Given the description of an element on the screen output the (x, y) to click on. 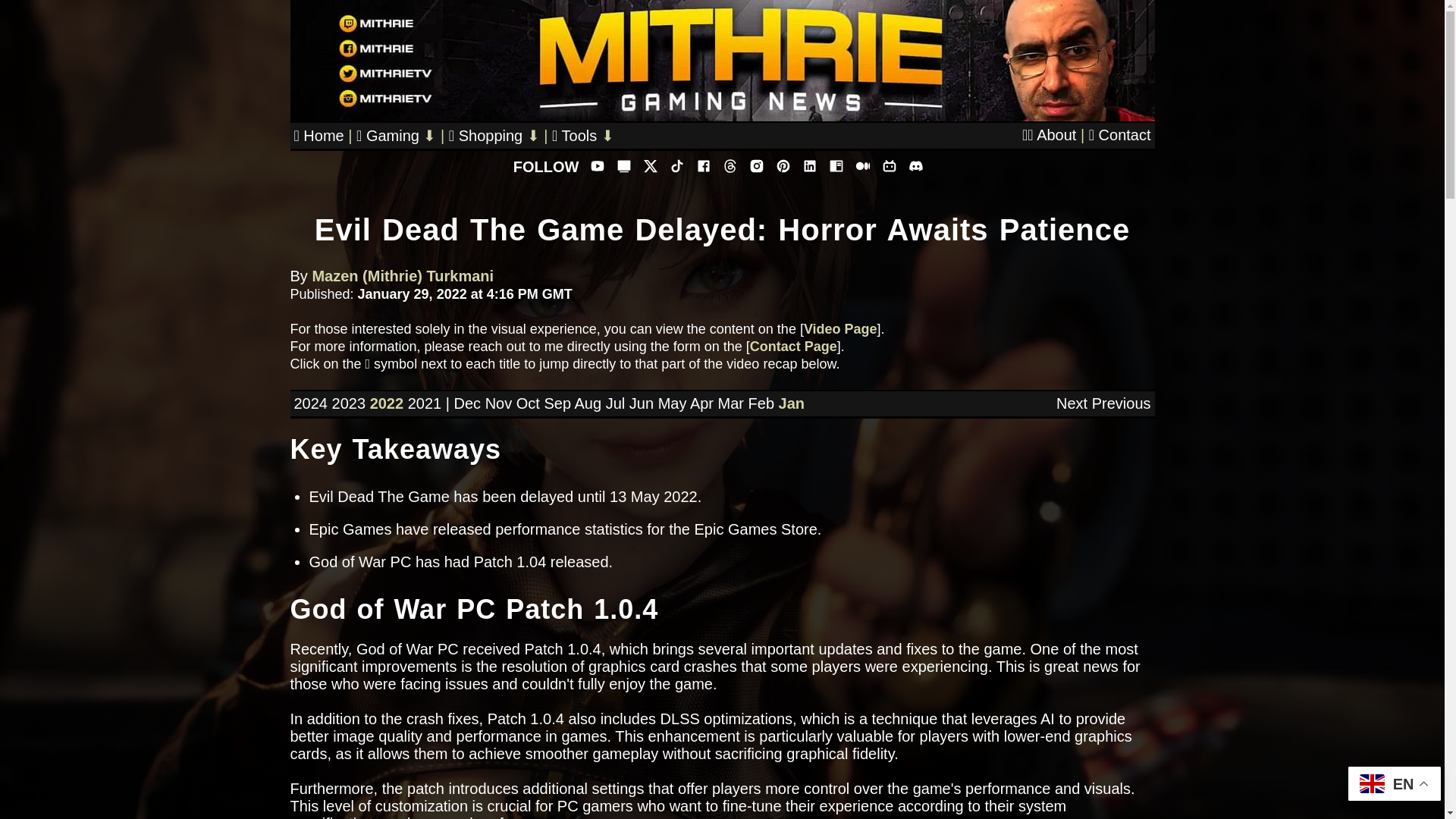
Dec (466, 402)
2023 (348, 402)
Video Page (840, 328)
Contact Page (793, 346)
2024 (311, 402)
2021 (424, 402)
